Given the description of an element on the screen output the (x, y) to click on. 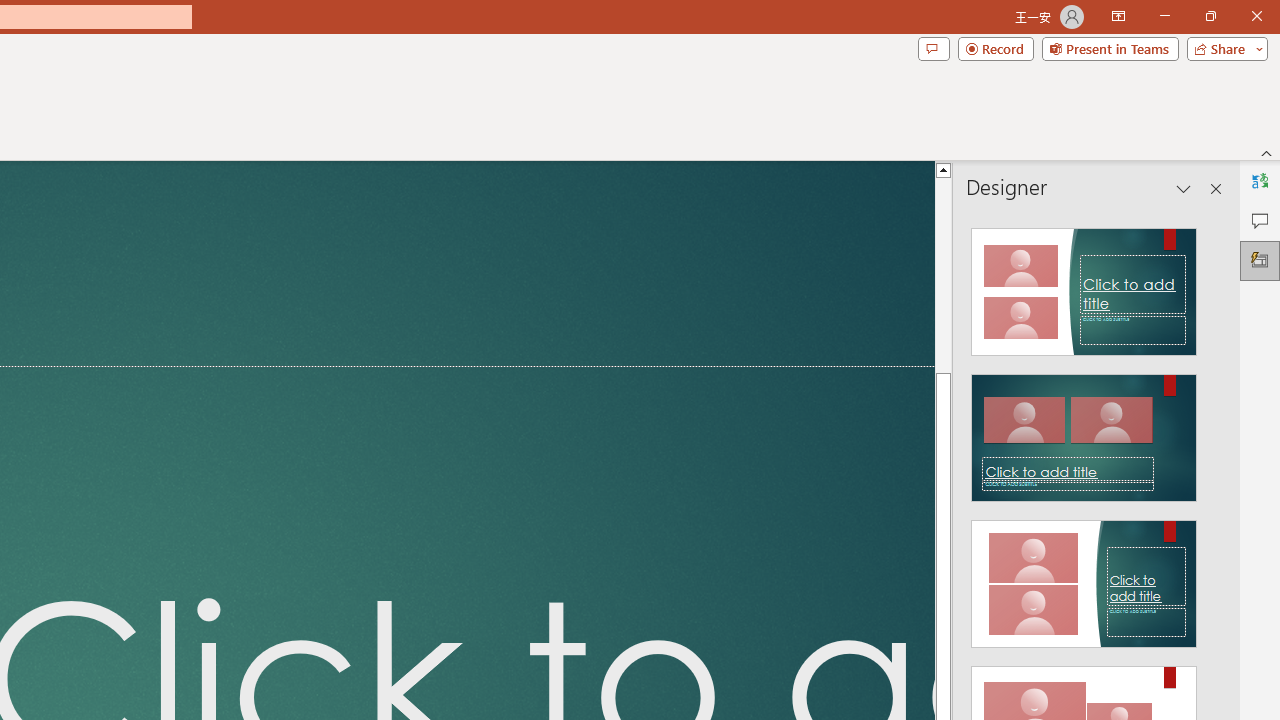
Page up (943, 274)
Comments (1260, 220)
Minimize (1164, 16)
Comments (933, 48)
